Given the description of an element on the screen output the (x, y) to click on. 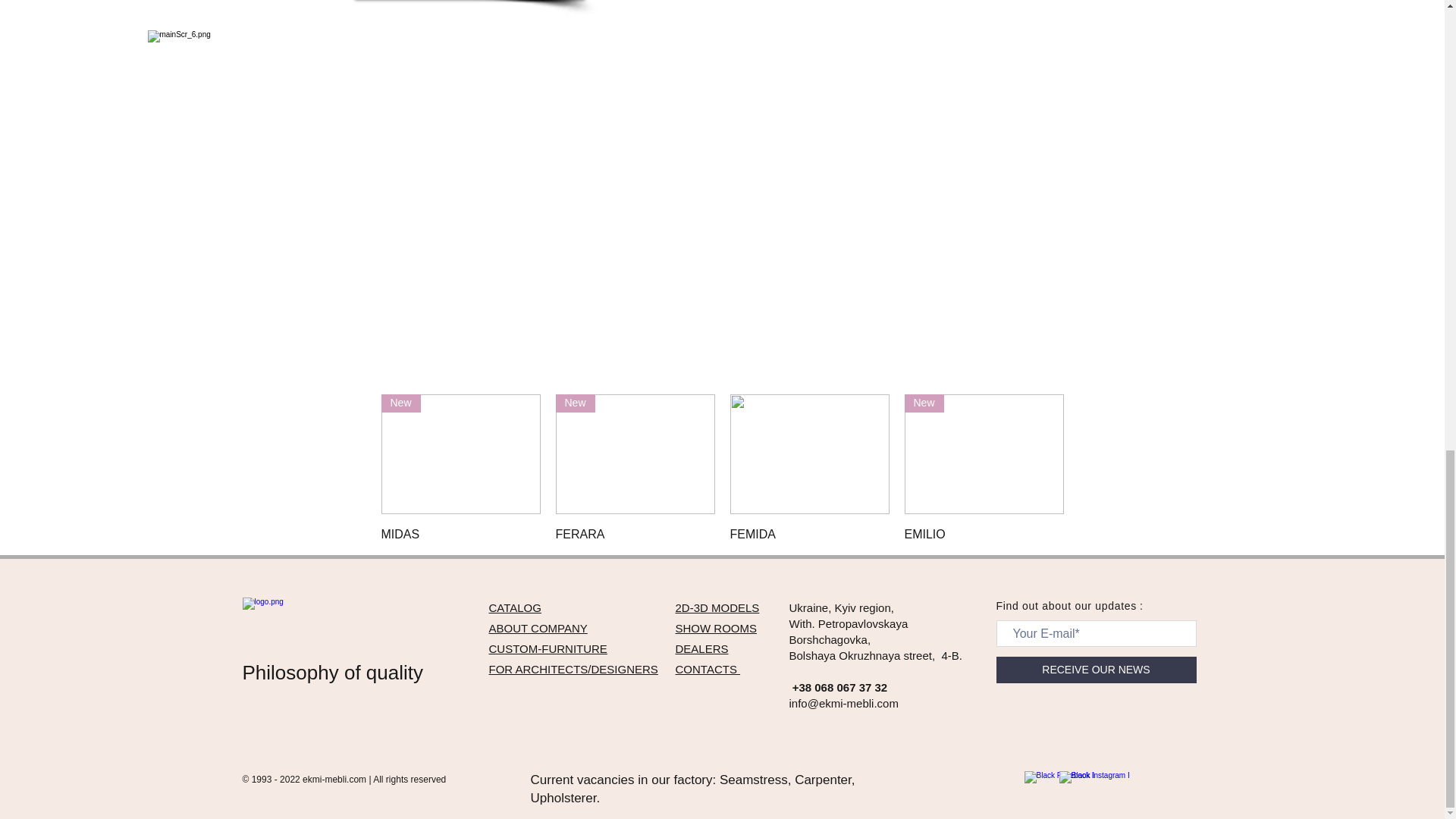
FEMIDA (808, 534)
New (460, 453)
MIDAS (460, 534)
EMILIO (983, 534)
FERARA (634, 534)
New (983, 453)
New (634, 453)
